Given the description of an element on the screen output the (x, y) to click on. 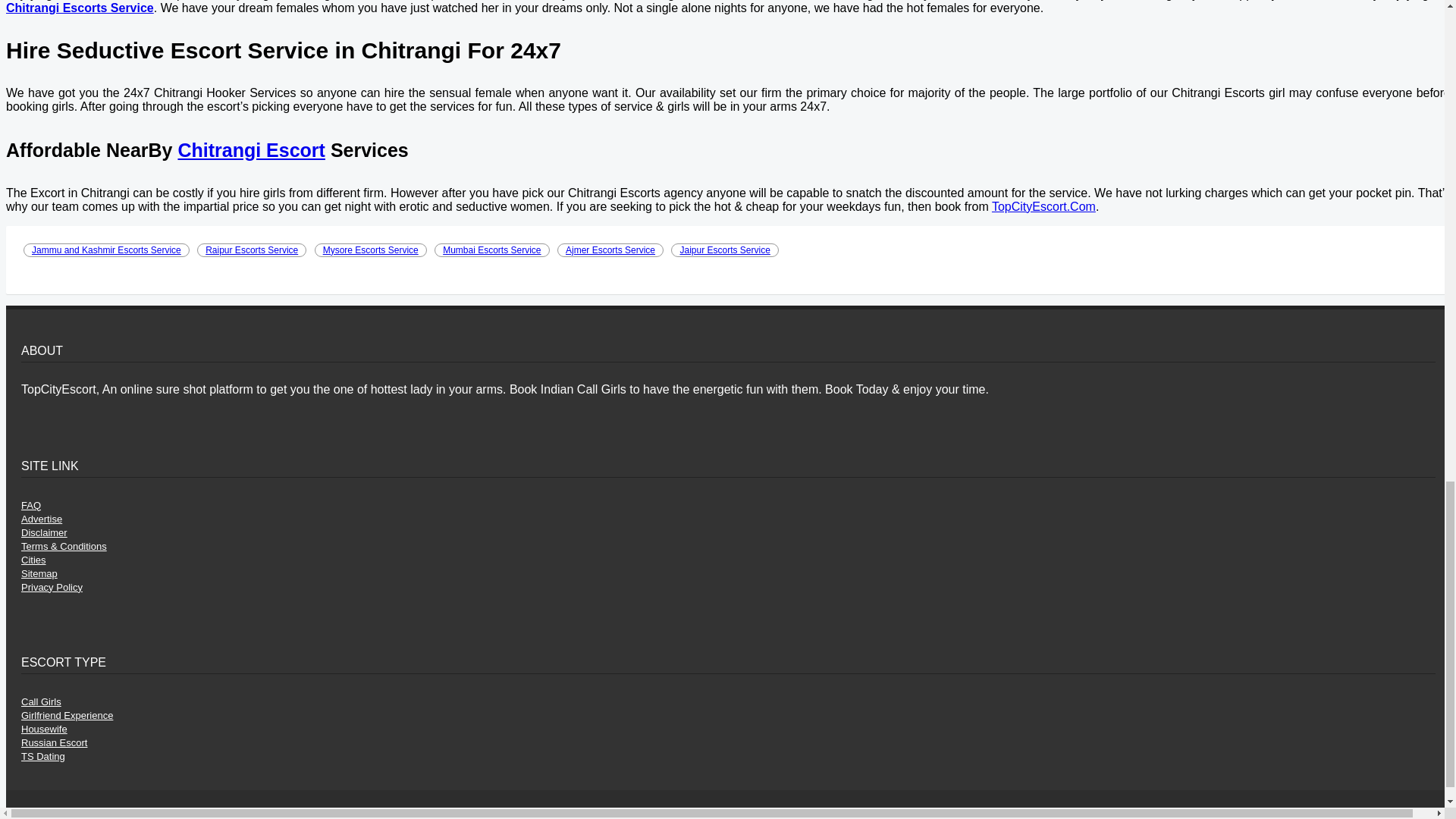
Jammu and Kashmir Escorts Service (106, 250)
Call Girls (41, 701)
Privacy Policy (51, 586)
Chitrangi Escorts Service (79, 7)
Call Girls (41, 701)
Chitrangi Escort (250, 149)
Raipur Escorts Service (250, 250)
Cities (33, 559)
TS Dating (43, 756)
Russian Escort (54, 742)
Sitemap (39, 573)
Privacy Policy (51, 586)
Disclaimer (43, 532)
Girlfriend Experience (67, 715)
Mumbai Escorts Service (490, 250)
